Given the description of an element on the screen output the (x, y) to click on. 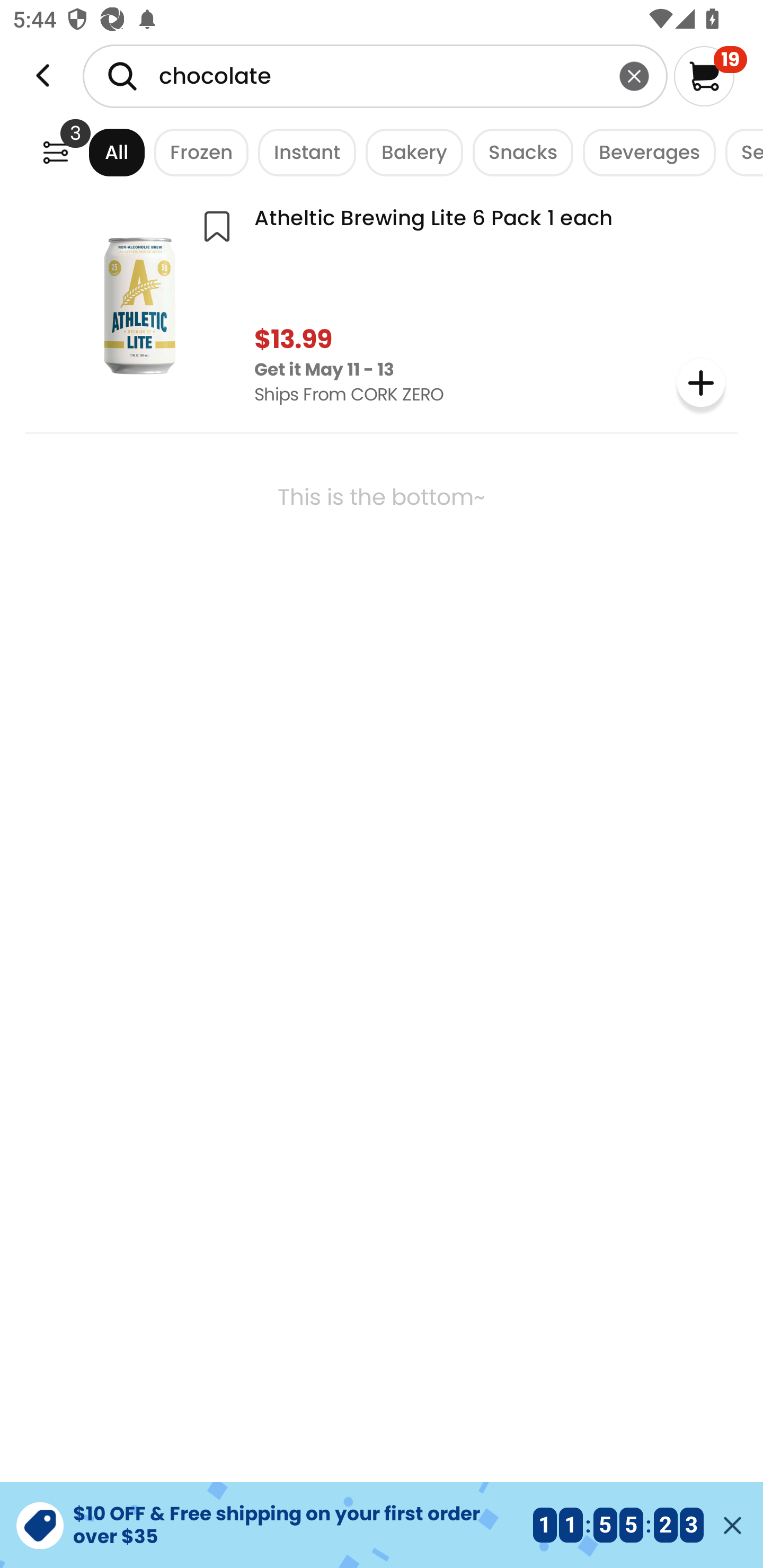
chocolate (374, 75)
19 (709, 75)
Weee! (42, 76)
Weee! (55, 151)
All (99, 151)
Frozen (196, 151)
Instant (302, 151)
Bakery (409, 151)
Snacks (518, 151)
Beverages (644, 151)
This is the bottom~ (381, 549)
